Given the description of an element on the screen output the (x, y) to click on. 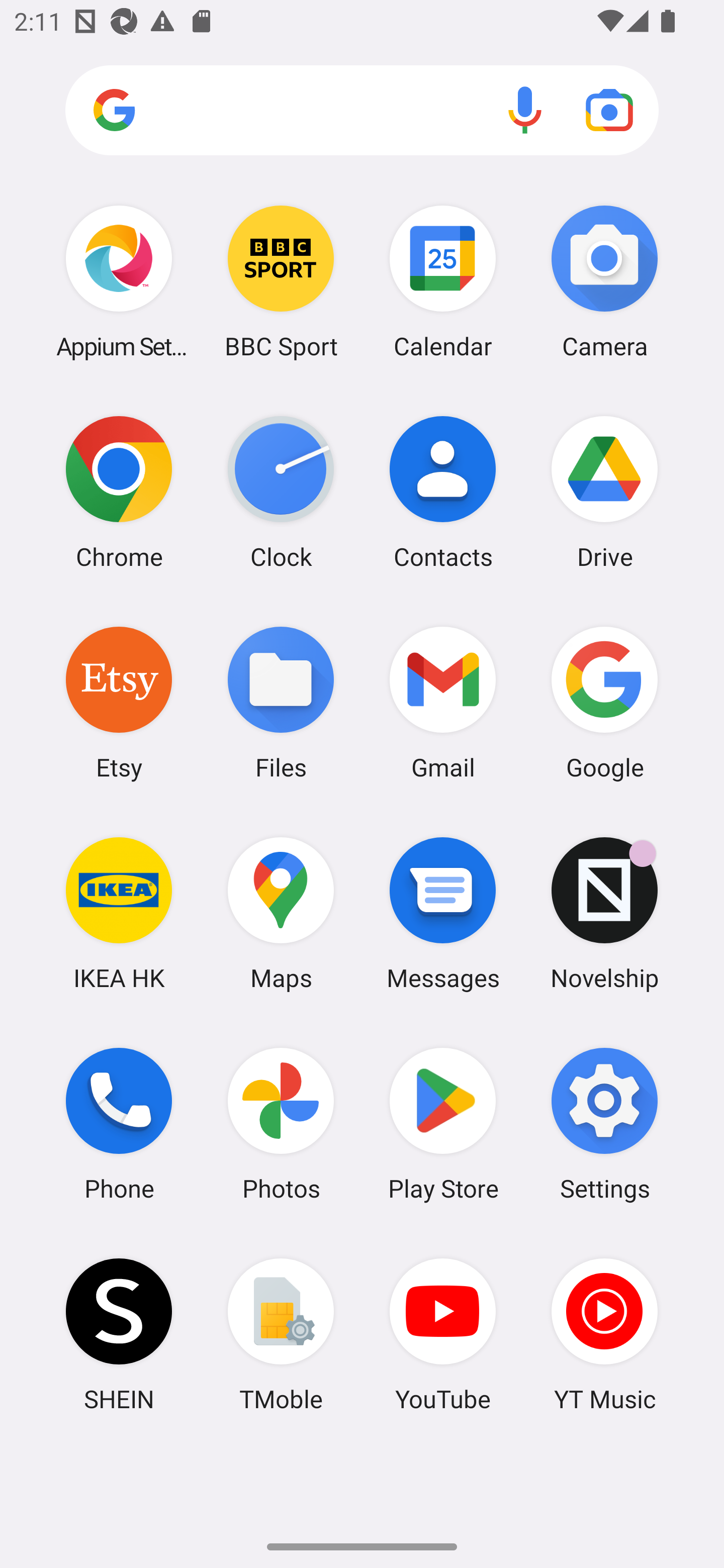
Search apps, web and more (361, 110)
Voice search (524, 109)
Google Lens (608, 109)
Appium Settings (118, 281)
BBC Sport (280, 281)
Calendar (443, 281)
Camera (604, 281)
Chrome (118, 492)
Clock (280, 492)
Contacts (443, 492)
Drive (604, 492)
Etsy (118, 702)
Files (280, 702)
Gmail (443, 702)
Google (604, 702)
IKEA HK (118, 913)
Maps (280, 913)
Messages (443, 913)
Novelship Novelship has 9 notifications (604, 913)
Phone (118, 1124)
Photos (280, 1124)
Play Store (443, 1124)
Settings (604, 1124)
SHEIN (118, 1334)
TMoble (280, 1334)
YouTube (443, 1334)
YT Music (604, 1334)
